Given the description of an element on the screen output the (x, y) to click on. 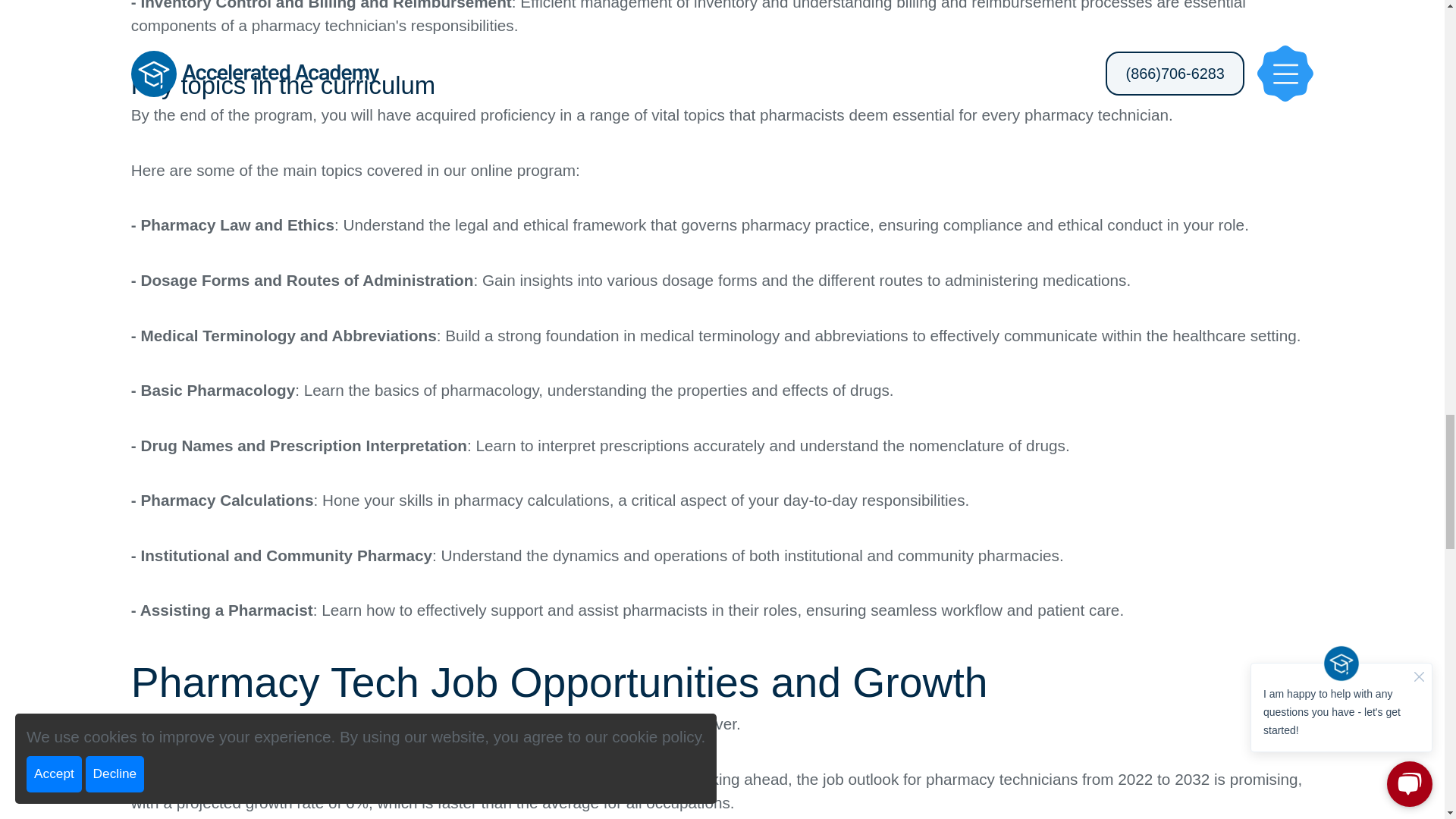
459,600 (648, 778)
online program (522, 170)
